Given the description of an element on the screen output the (x, y) to click on. 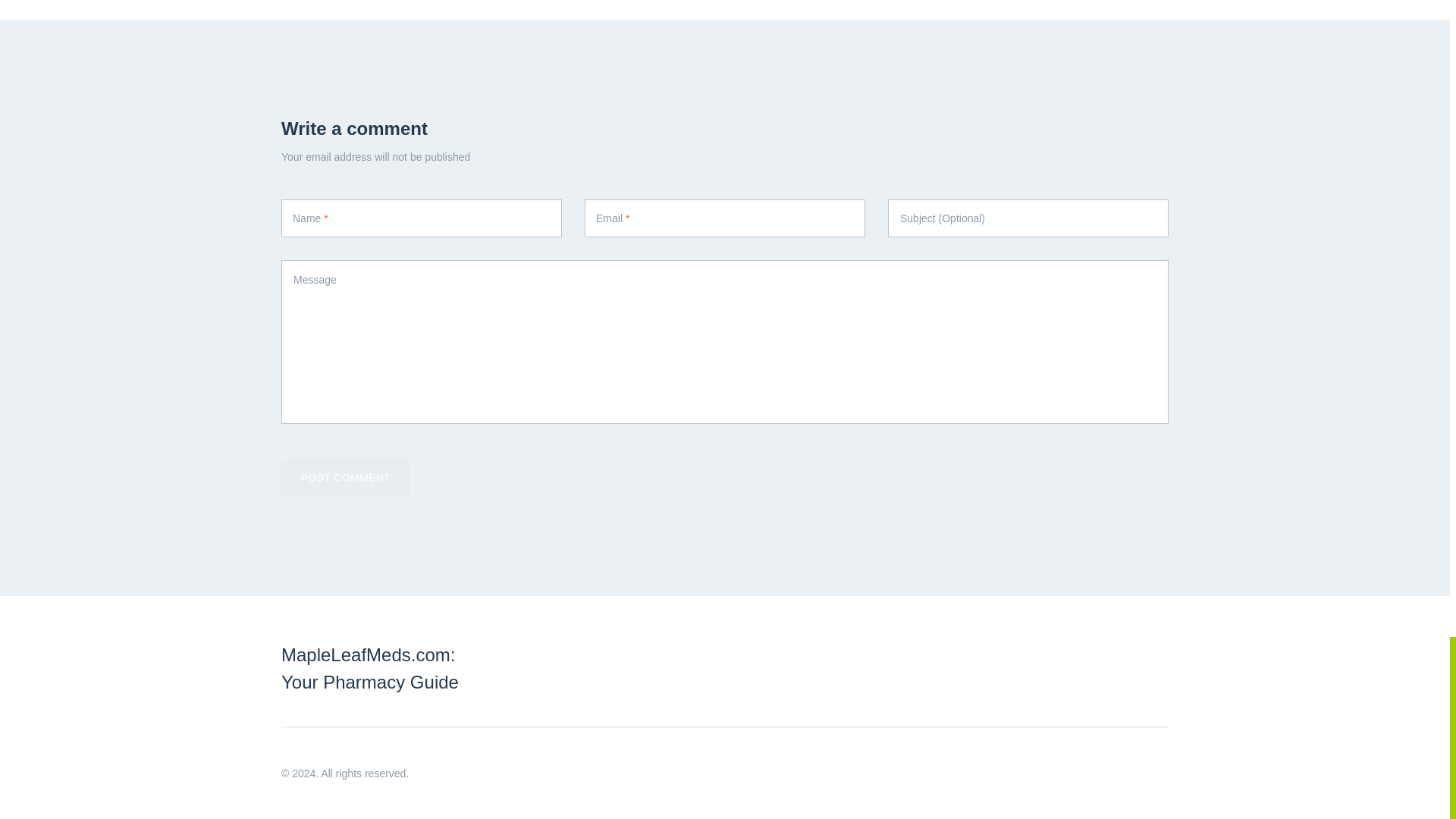
MapleLeafMeds.com: Your Pharmacy Guide (369, 668)
POST COMMENT (345, 478)
